Given the description of an element on the screen output the (x, y) to click on. 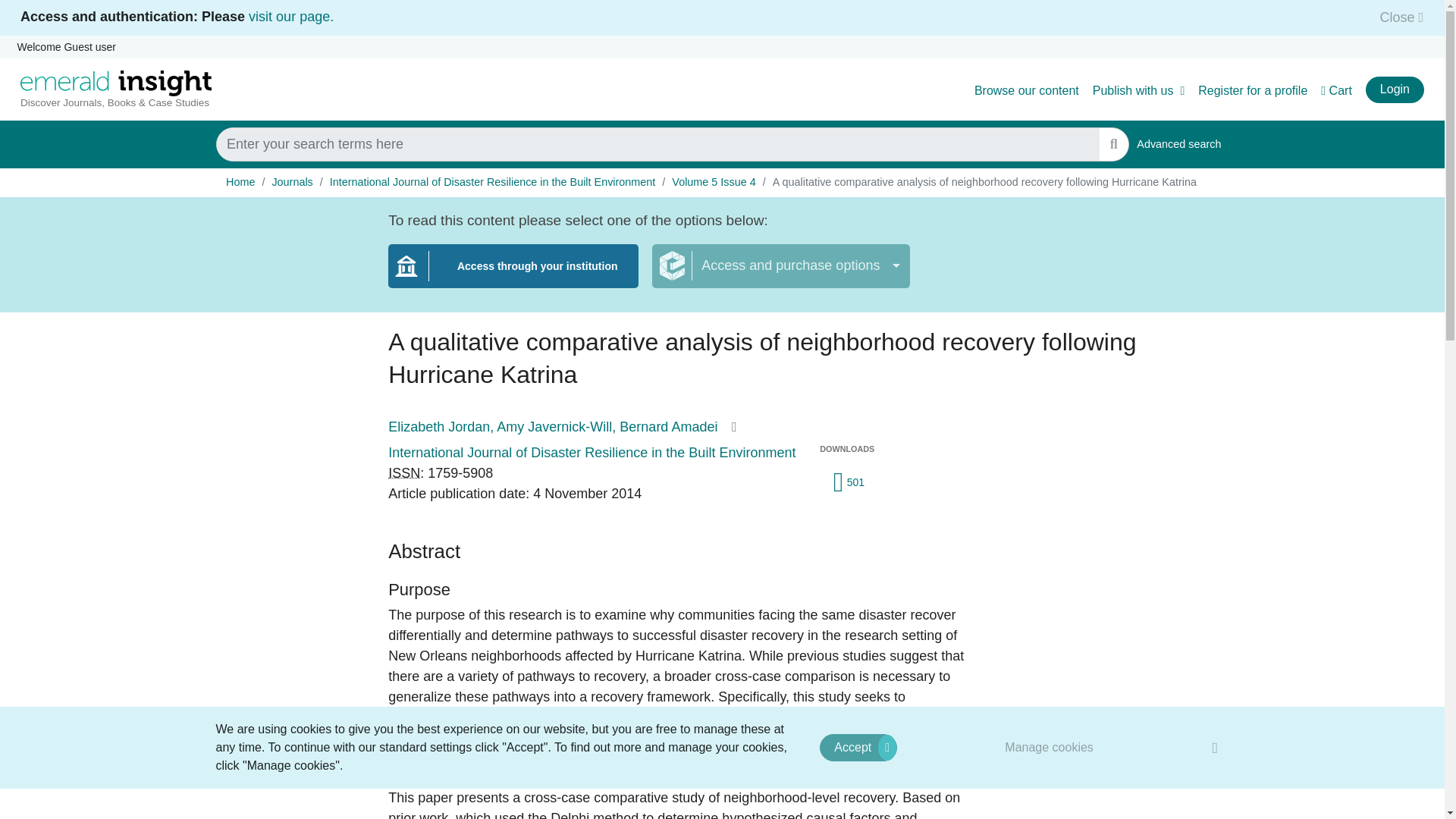
Access through your institution (513, 275)
International Standard Serial Number. (404, 473)
Register for a profile (1178, 144)
Manage cookies (1252, 90)
visit our page. (1049, 747)
Browse our content (290, 16)
Close (1026, 90)
Publish with us (1397, 17)
